Given the description of an element on the screen output the (x, y) to click on. 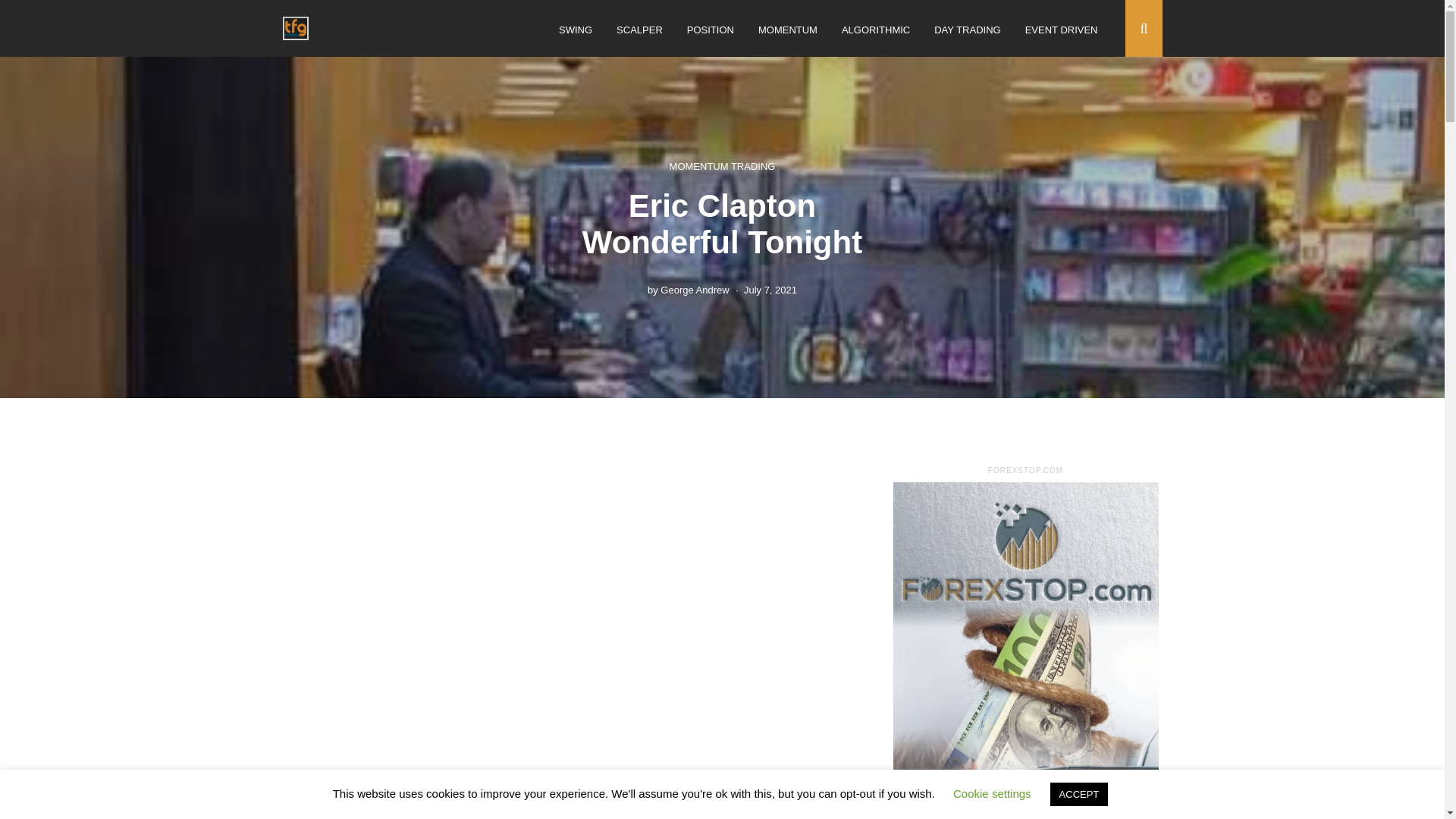
SWING (575, 30)
EVENT DRIVEN (1061, 30)
POSITION (710, 30)
MOMENTUM (787, 30)
SCALPER (638, 30)
MOMENTUM TRADING (722, 165)
DAY TRADING (967, 30)
George Andrew (695, 288)
ALGORITHMIC (875, 30)
